Given the description of an element on the screen output the (x, y) to click on. 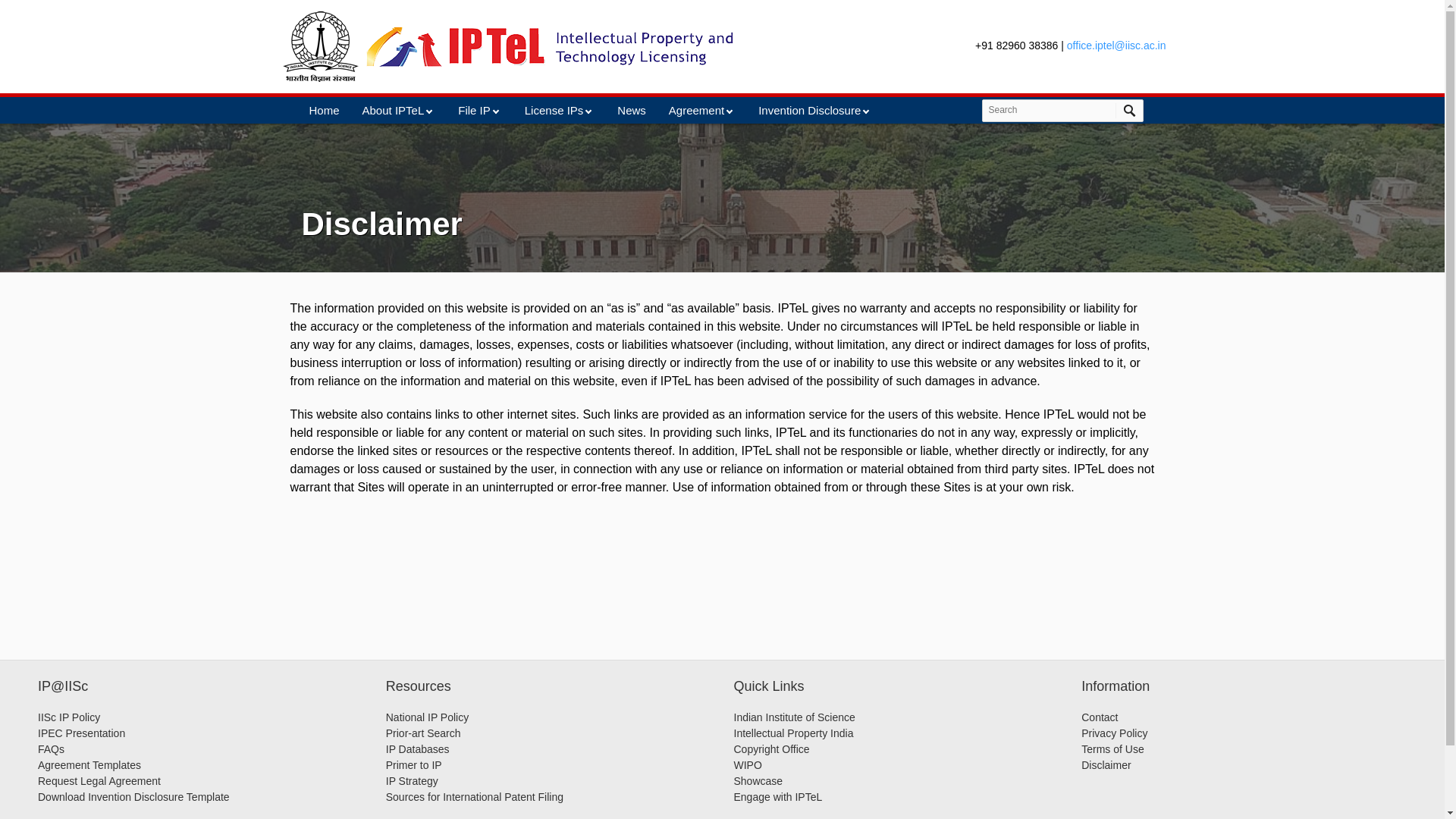
Intellectual Property India (793, 733)
FAQs (50, 748)
Indian Institute of Science (794, 717)
News (631, 110)
National IP Policy (426, 717)
IISc IP Policy (68, 717)
Copyright Office (771, 748)
Agreement (701, 110)
Request Legal Agreement (98, 780)
IP Databases (417, 748)
Primer to IP (413, 765)
Go to Homepage (320, 46)
Invention Disclosure (815, 110)
Download Invention Disclosure Template (133, 797)
IPEC Presentation (81, 733)
